Given the description of an element on the screen output the (x, y) to click on. 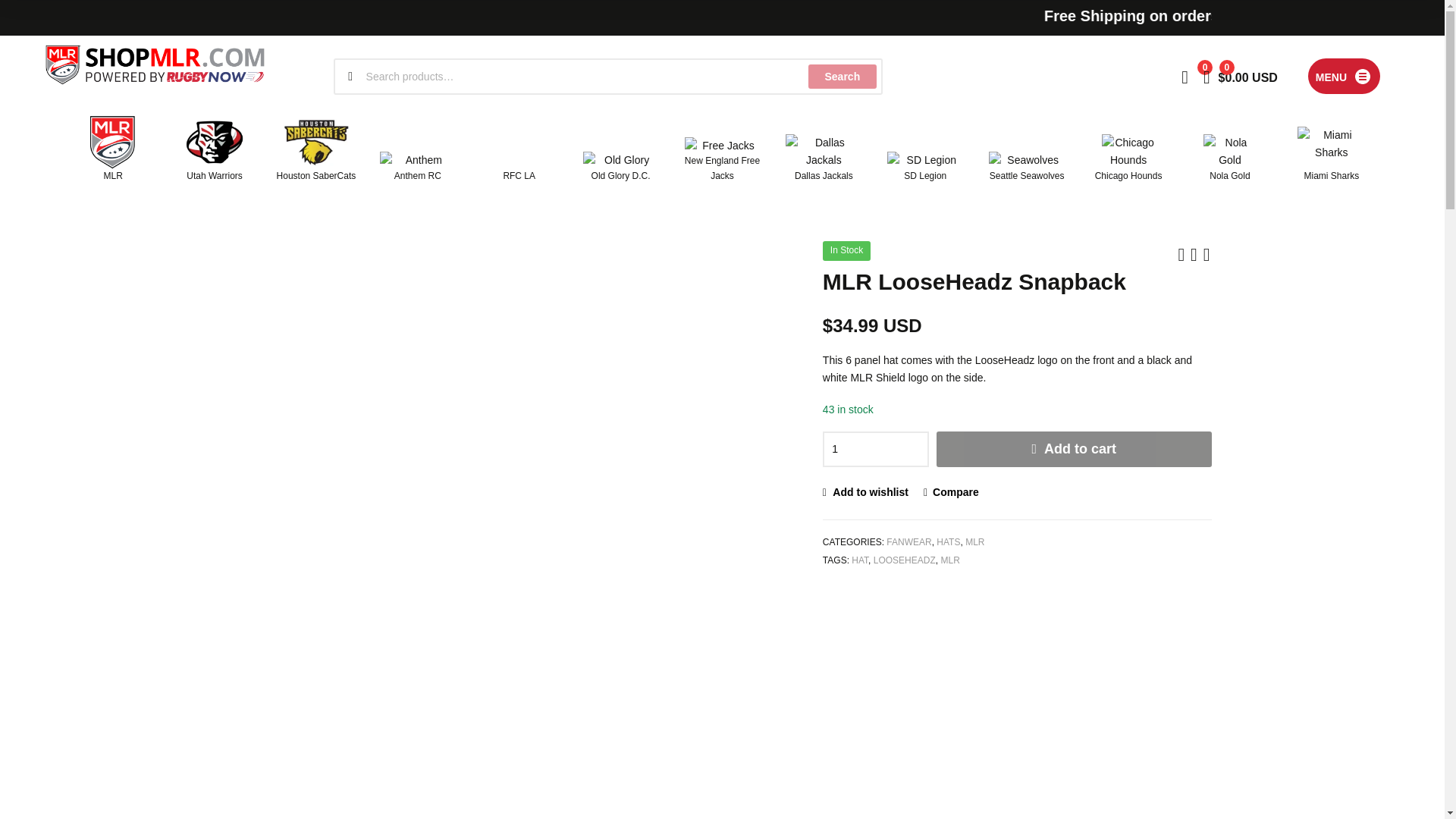
Anthem RC (417, 167)
SD Legion (925, 167)
View your shopping cart (1241, 75)
Qty (875, 449)
RFC LA (519, 149)
New England Free Jacks (721, 160)
Dallas Jackals (823, 158)
1 (875, 449)
Houston SaberCats (315, 149)
Utah Warriors (214, 149)
MLR (112, 149)
Search (842, 76)
Old Glory D.C. (620, 167)
